Given the description of an element on the screen output the (x, y) to click on. 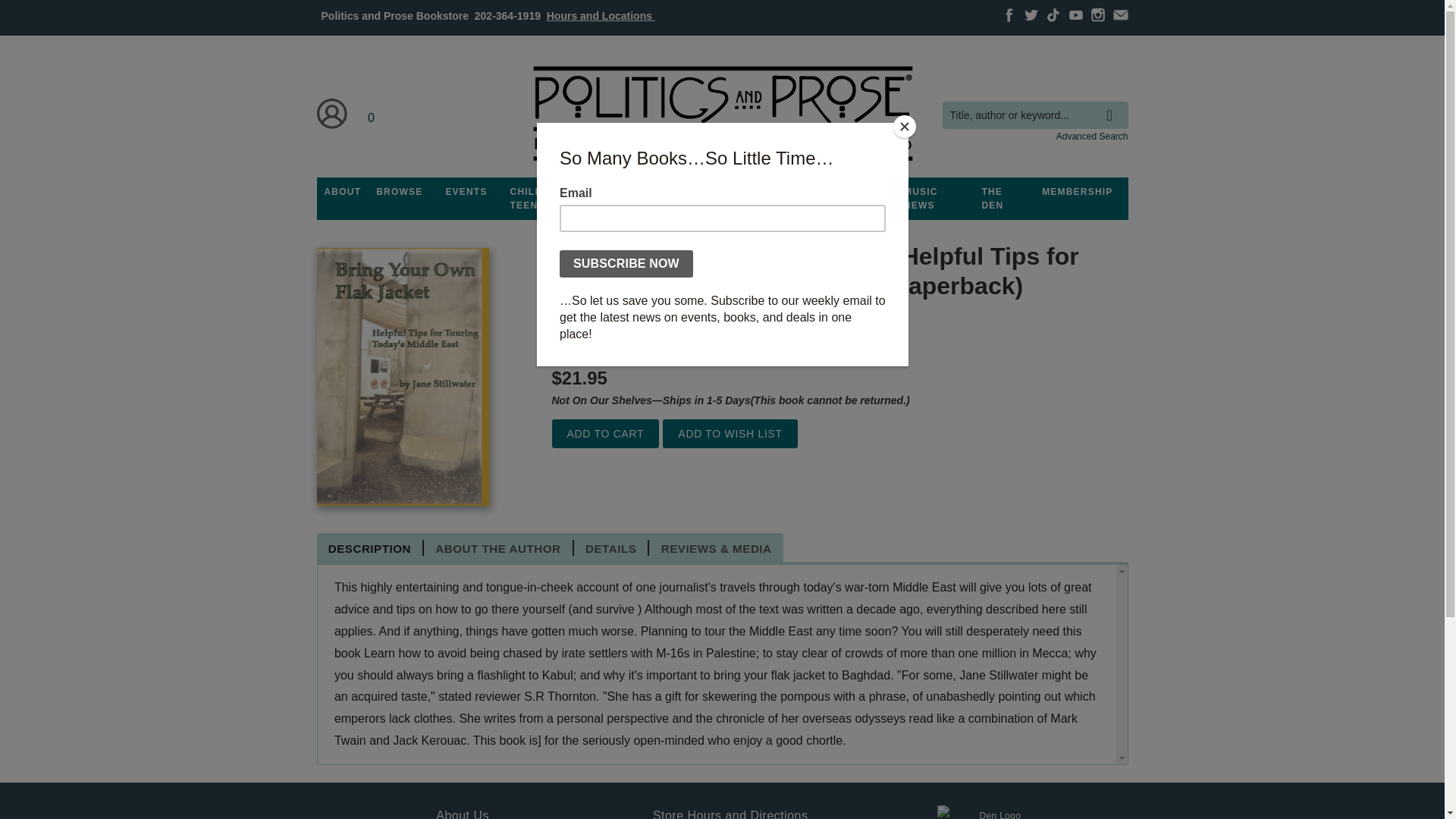
See information about our programs (633, 191)
SERVICES (808, 191)
search (1112, 103)
Add to Wish List (729, 433)
BROWSE (398, 191)
EVENTS (465, 191)
Hours and Locations  (601, 15)
Advanced Search (1092, 136)
Children and Teens Department (548, 198)
